Given the description of an element on the screen output the (x, y) to click on. 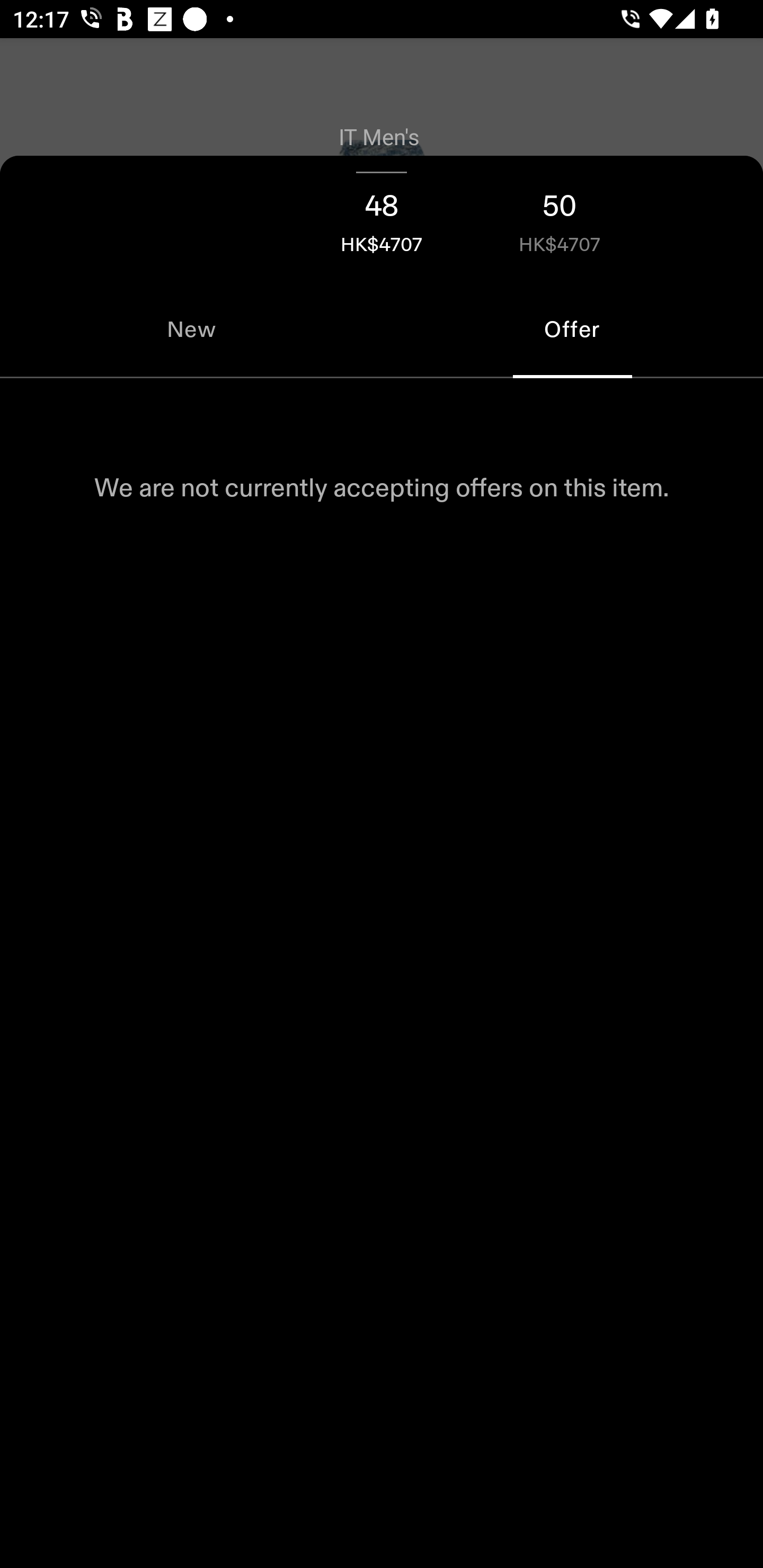
48 HK$4707 (381, 218)
50 HK$4707 (559, 218)
New (190, 329)
